Given the description of an element on the screen output the (x, y) to click on. 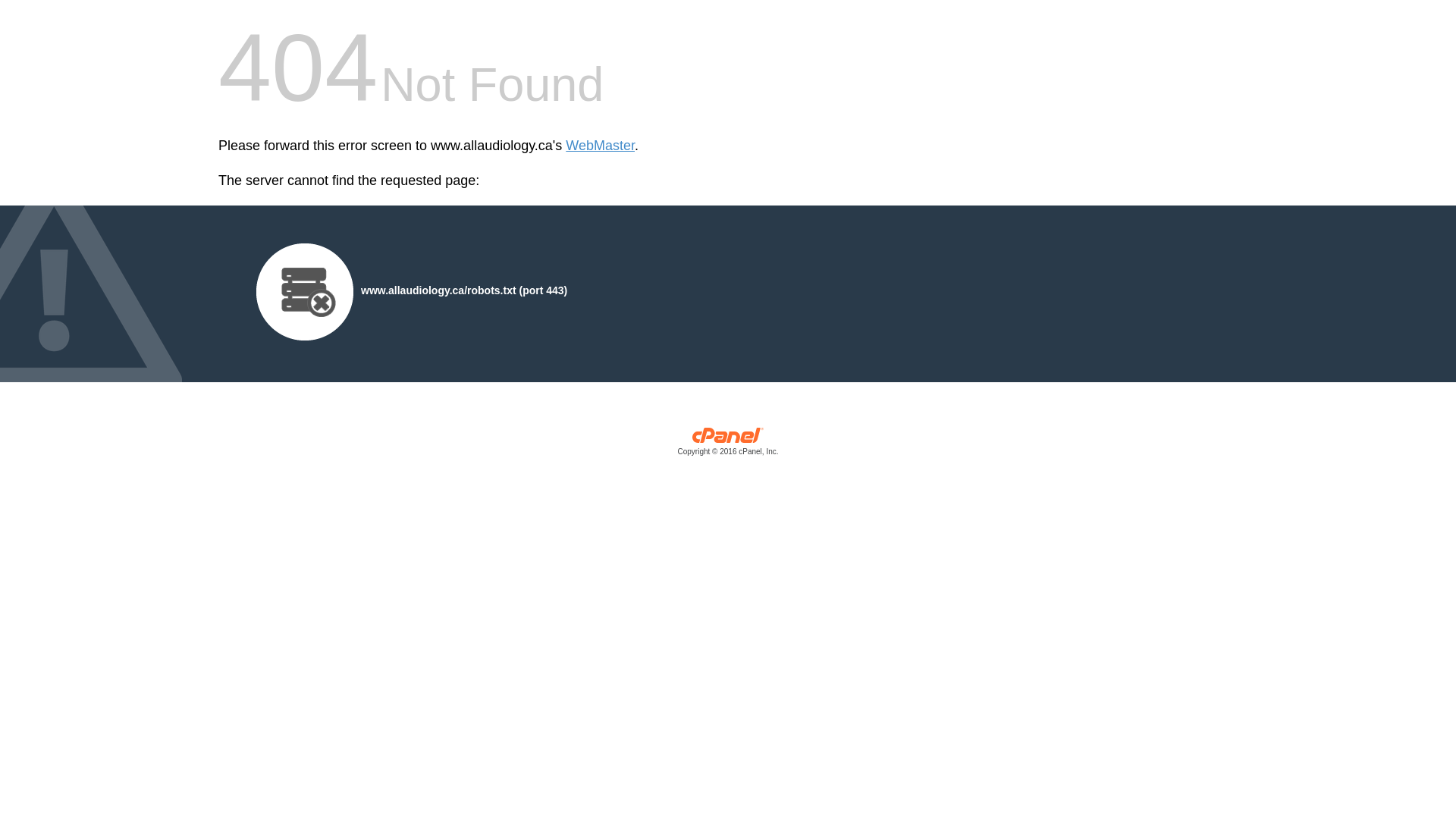
WebMaster Element type: text (599, 145)
